Given the description of an element on the screen output the (x, y) to click on. 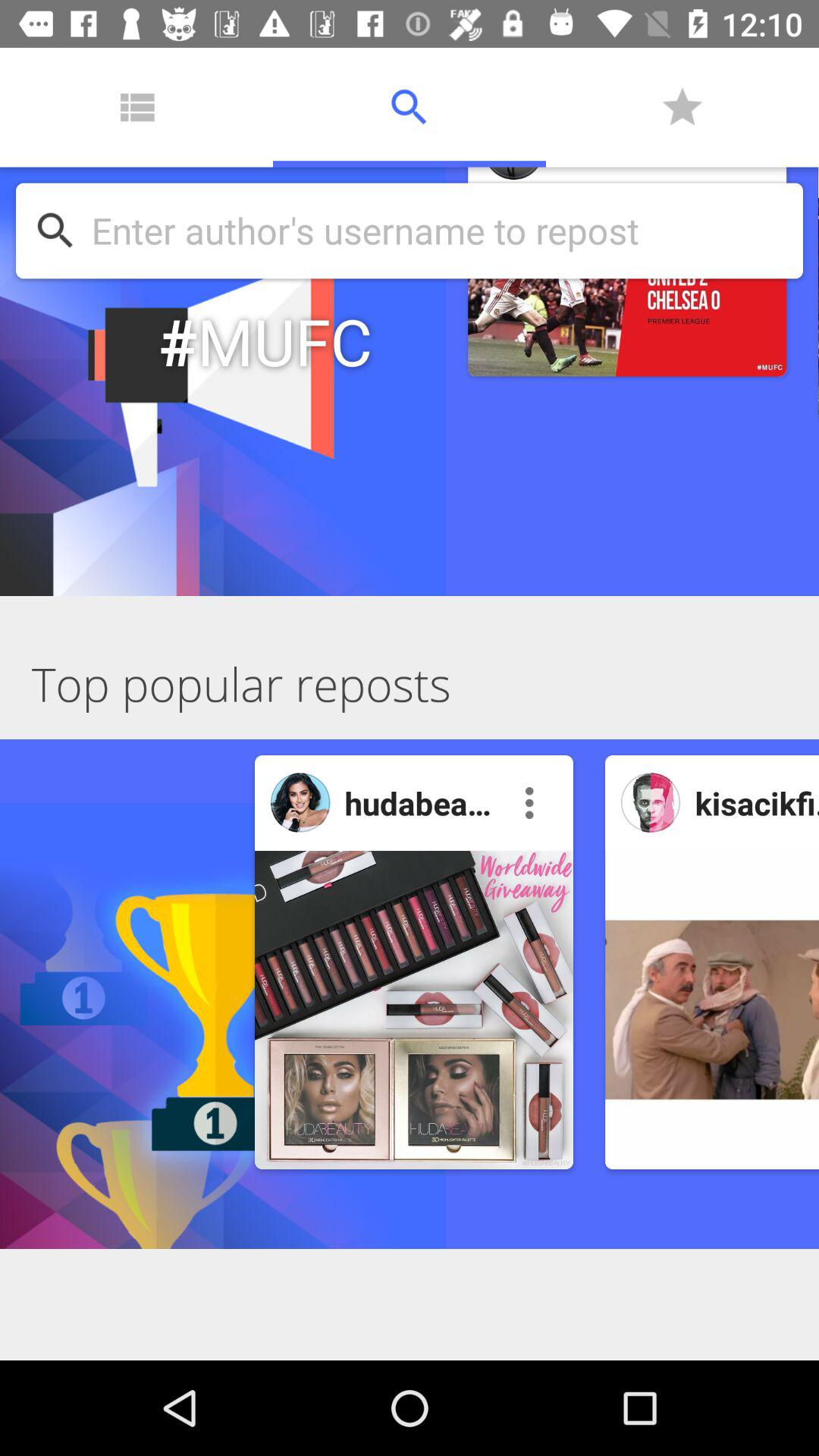
got to the post page (413, 1009)
